Given the description of an element on the screen output the (x, y) to click on. 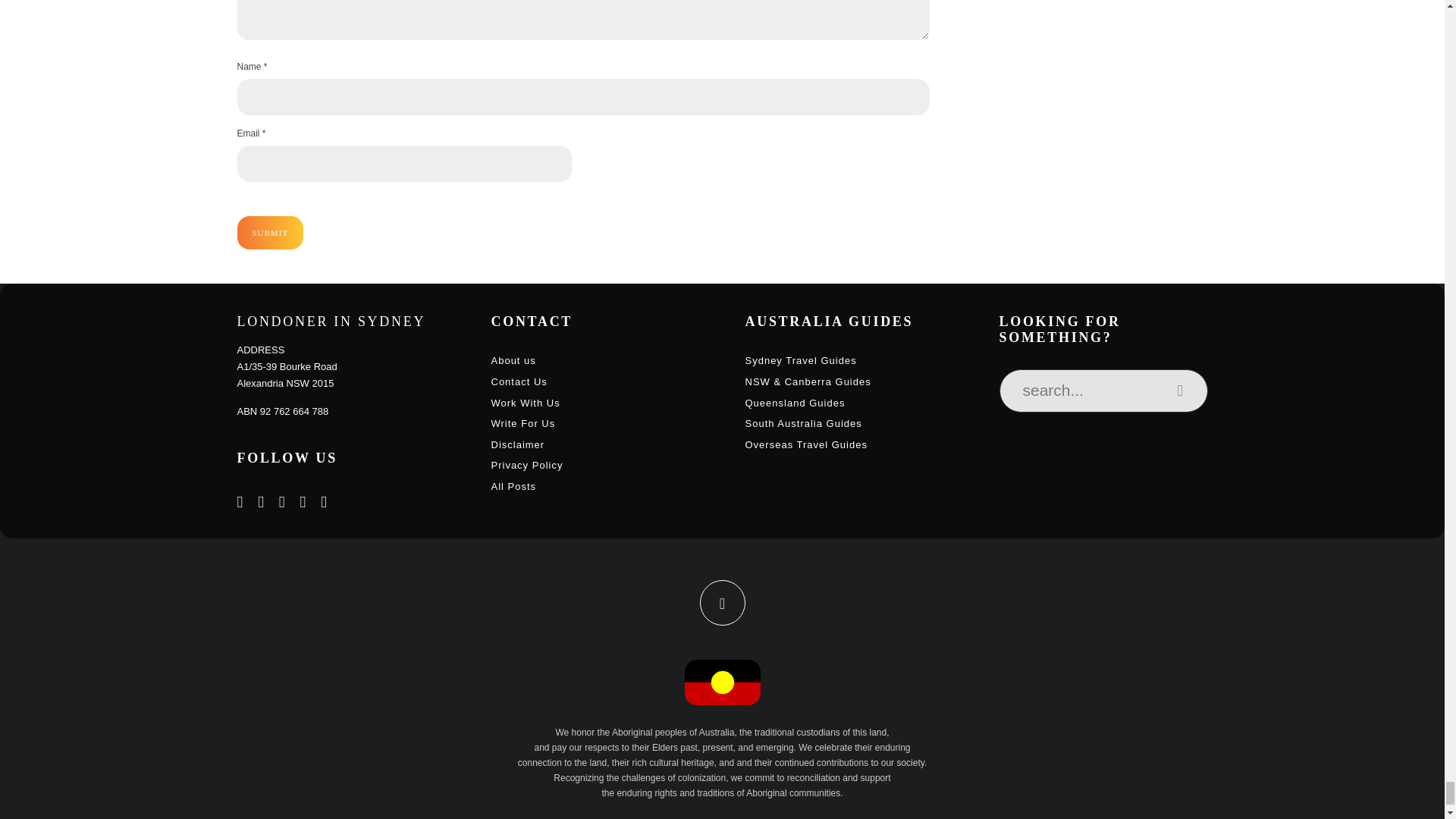
Submit (268, 232)
